Given the description of an element on the screen output the (x, y) to click on. 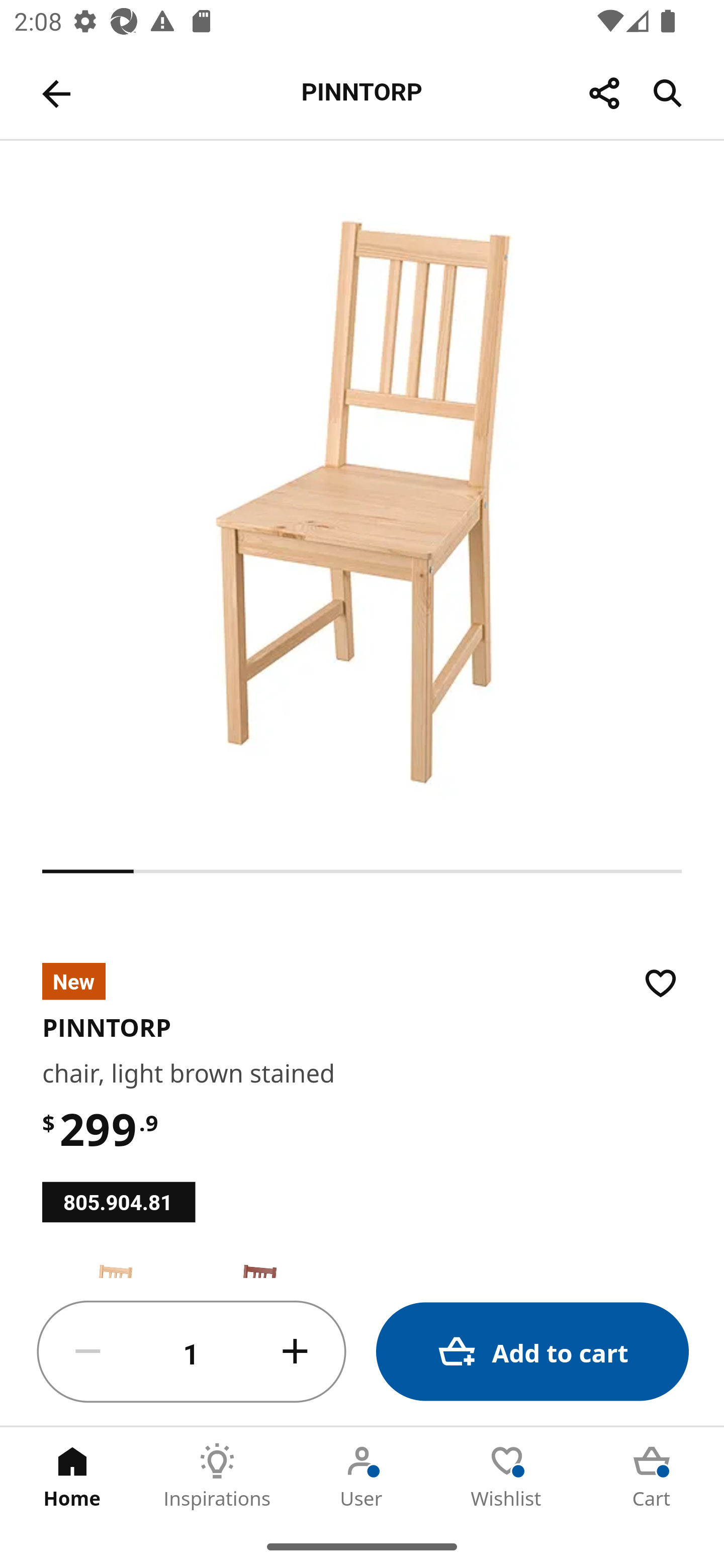
Add to cart (531, 1352)
1 (191, 1352)
Home
Tab 1 of 5 (72, 1476)
Inspirations
Tab 2 of 5 (216, 1476)
User
Tab 3 of 5 (361, 1476)
Wishlist
Tab 4 of 5 (506, 1476)
Cart
Tab 5 of 5 (651, 1476)
